Given the description of an element on the screen output the (x, y) to click on. 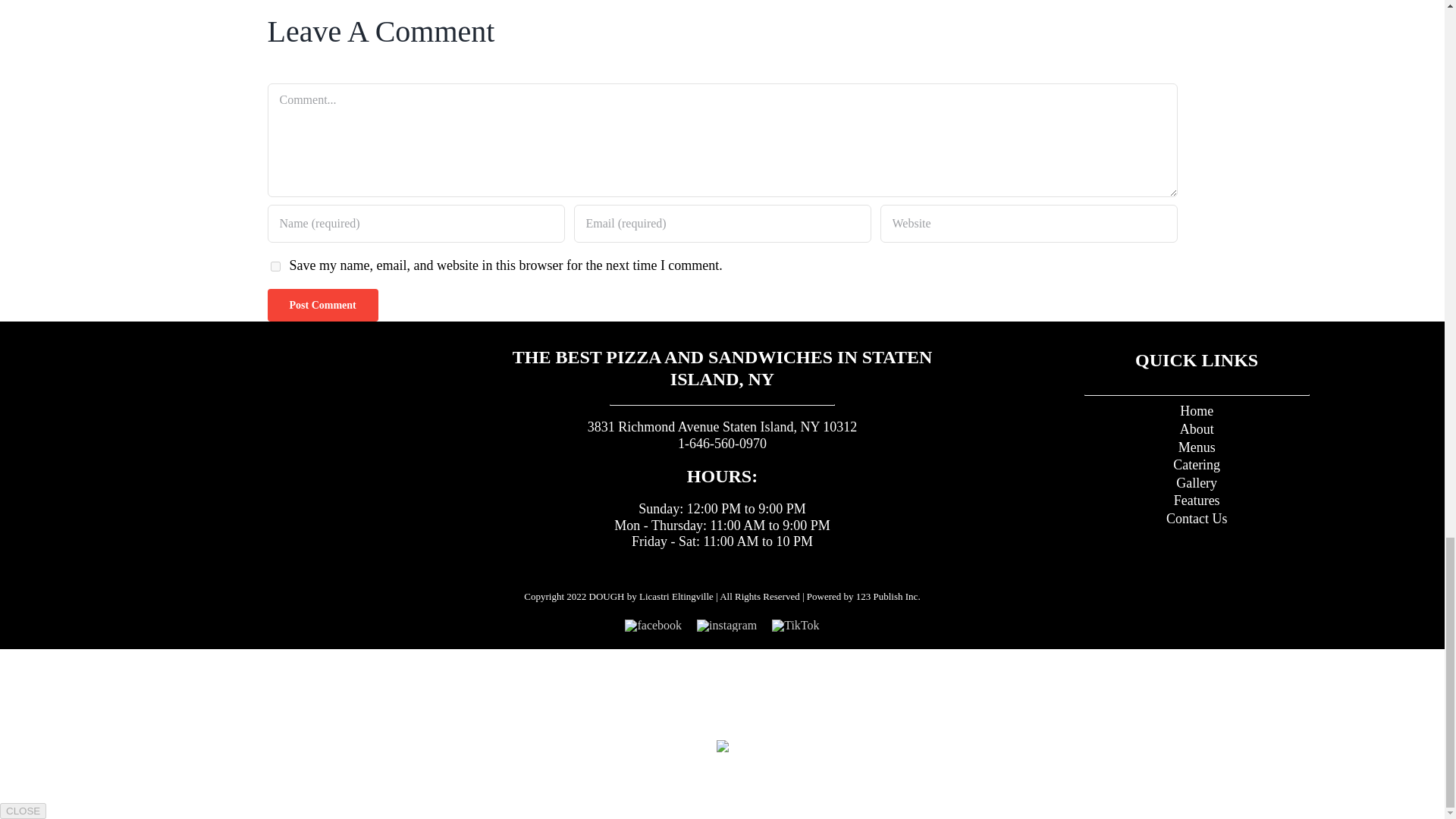
facebook (652, 622)
yes (274, 266)
Post Comment (321, 305)
